Given the description of an element on the screen output the (x, y) to click on. 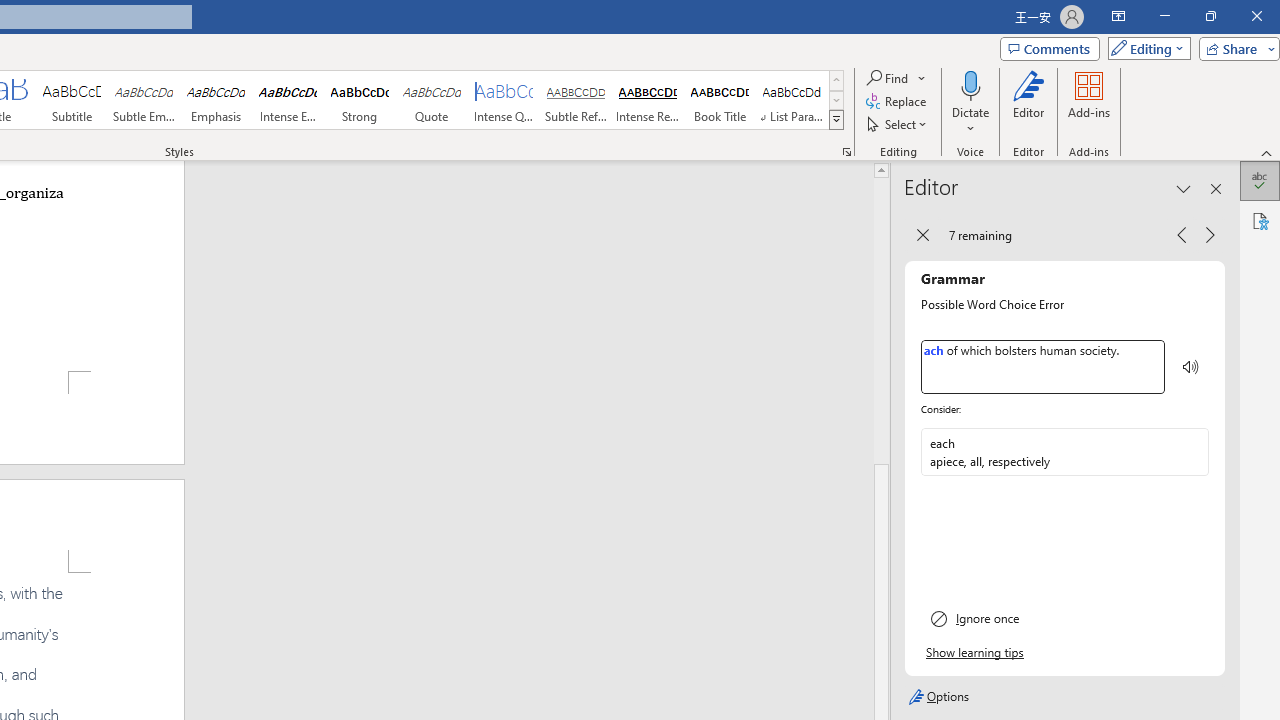
AutomationID: DrillInPane_ReadContext (1190, 367)
each (1049, 452)
Strong (359, 100)
Editor (1028, 102)
Subtle Emphasis (143, 100)
Ribbon Display Options (1118, 16)
Quote (431, 100)
Editing (1144, 47)
Intense Quote (504, 100)
Find (888, 78)
Subtitle (71, 100)
Find (896, 78)
Intense Emphasis (287, 100)
Task Pane Options (1183, 188)
